Given the description of an element on the screen output the (x, y) to click on. 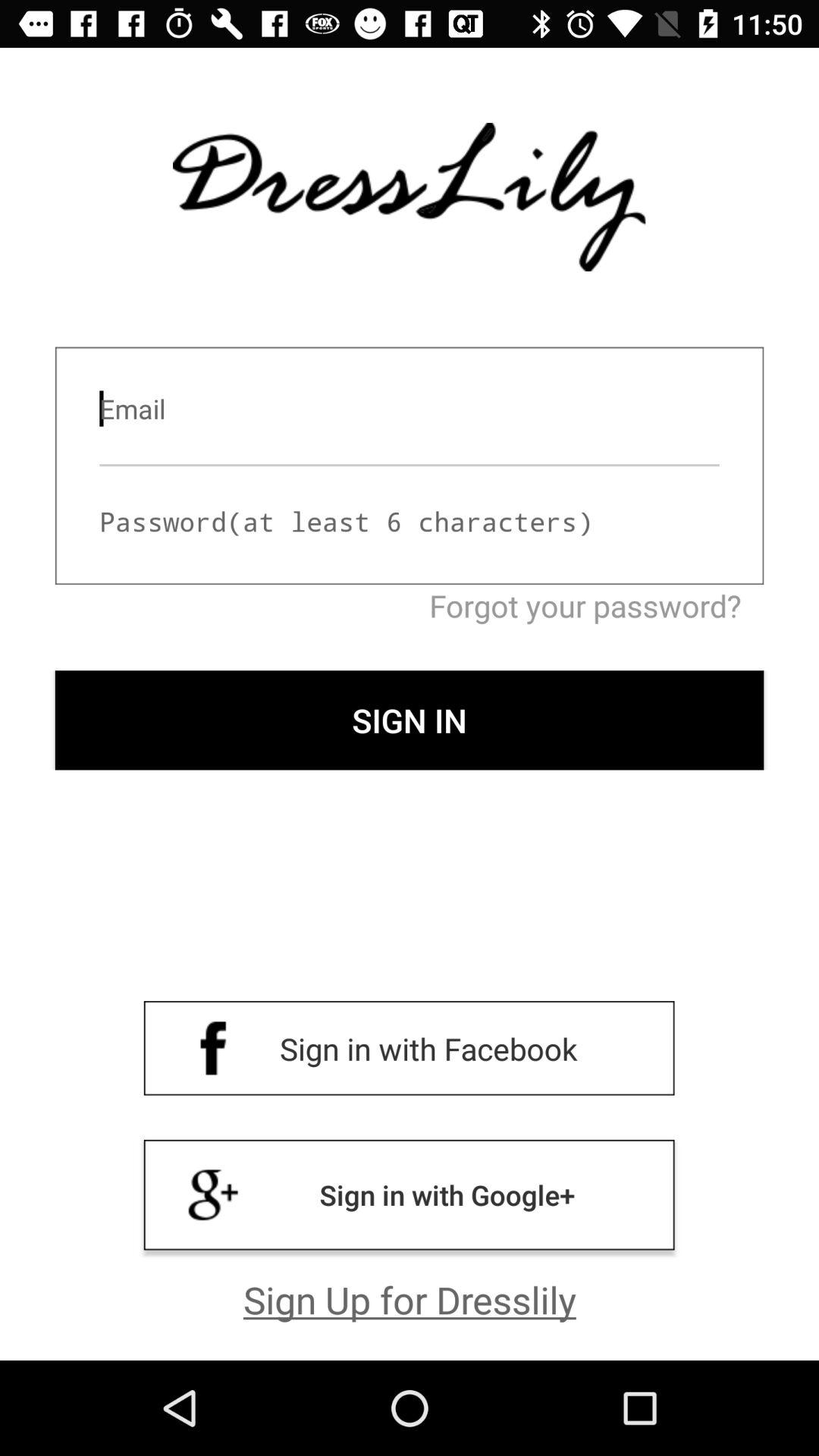
type password (409, 521)
